Given the description of an element on the screen output the (x, y) to click on. 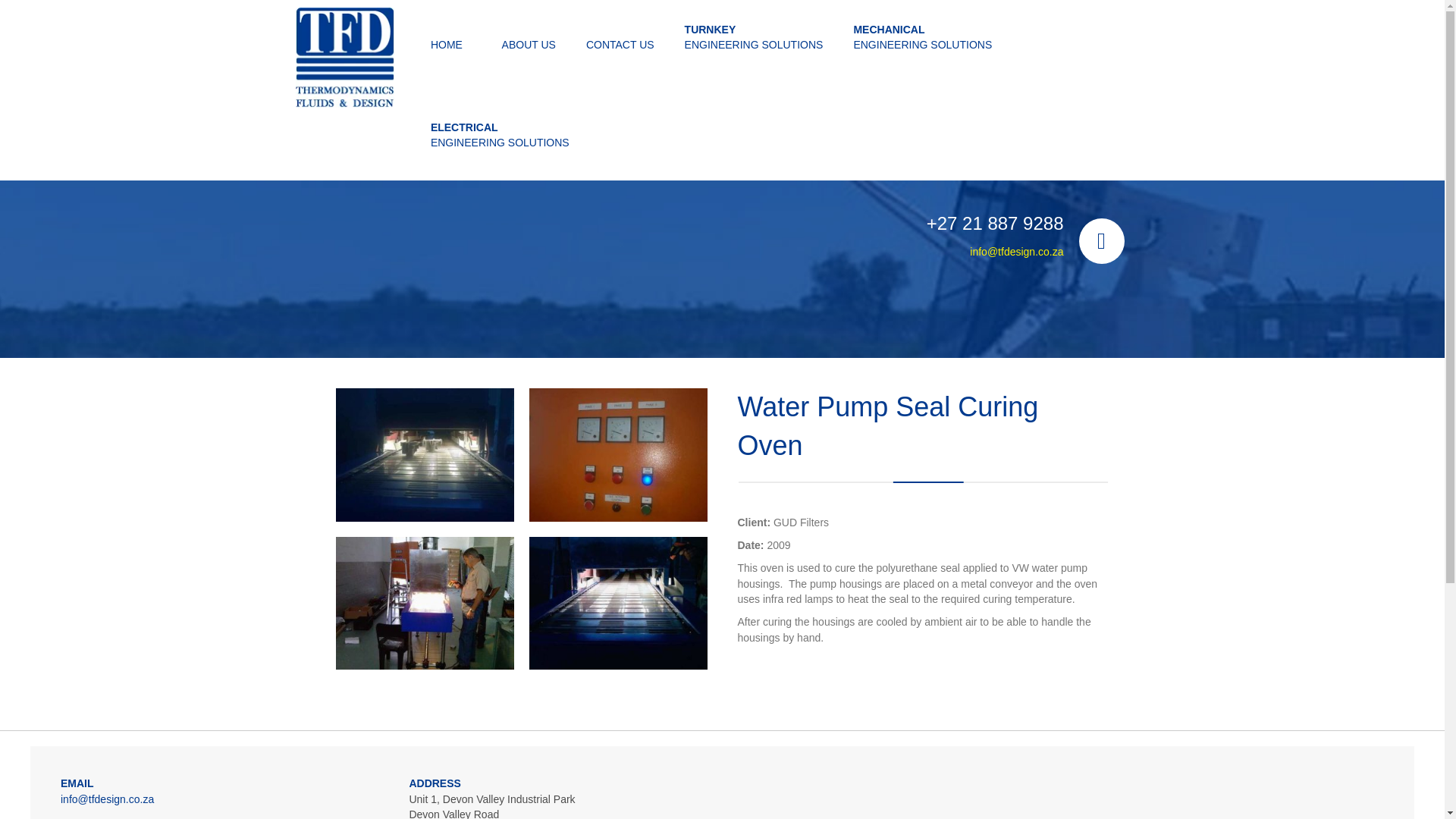
EMAIL (499, 131)
CONTACT US (77, 783)
ABOUT US (620, 41)
